Given the description of an element on the screen output the (x, y) to click on. 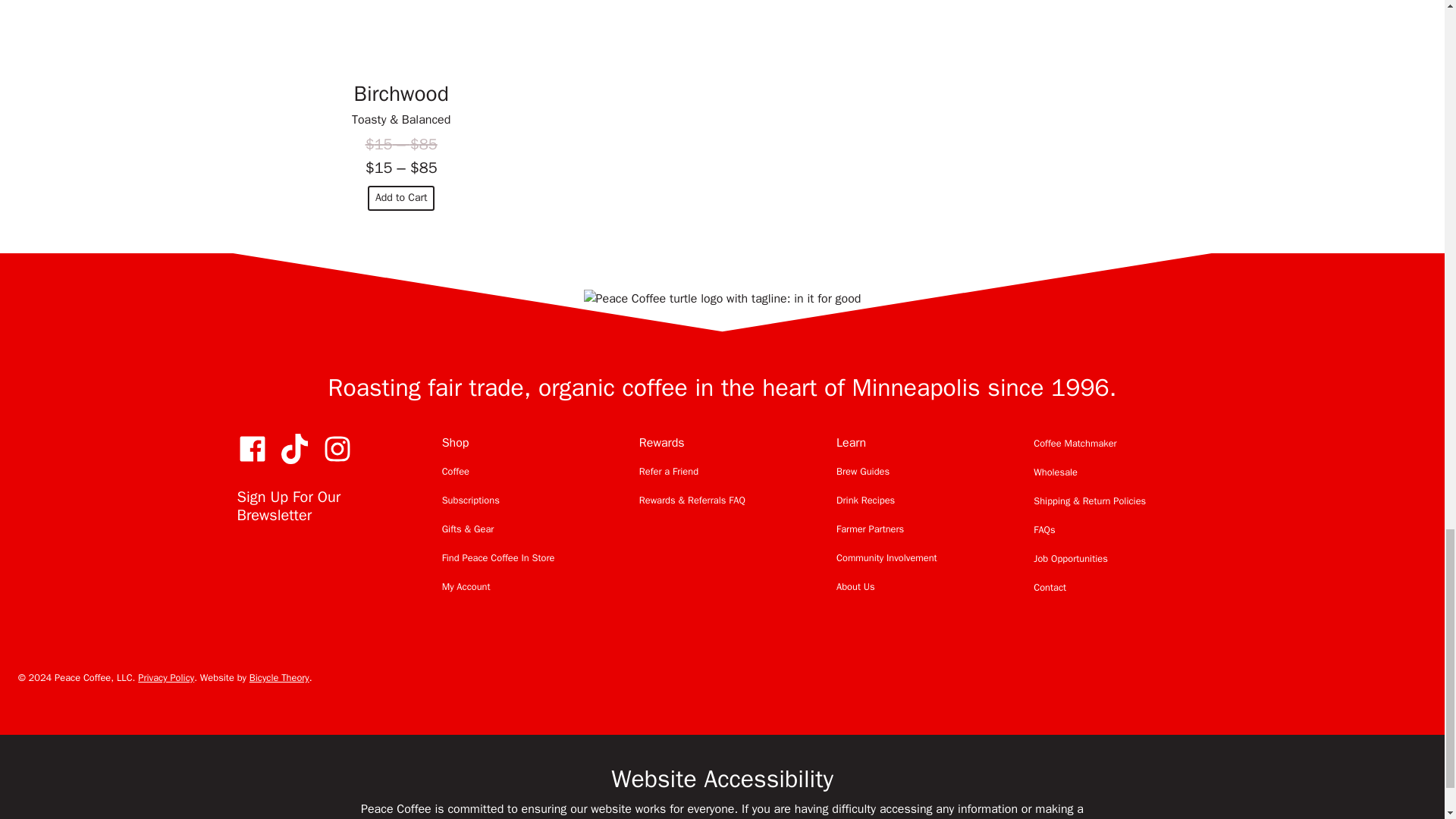
TikTok (293, 449)
Facebook (250, 449)
Add to Cart (401, 197)
